Given the description of an element on the screen output the (x, y) to click on. 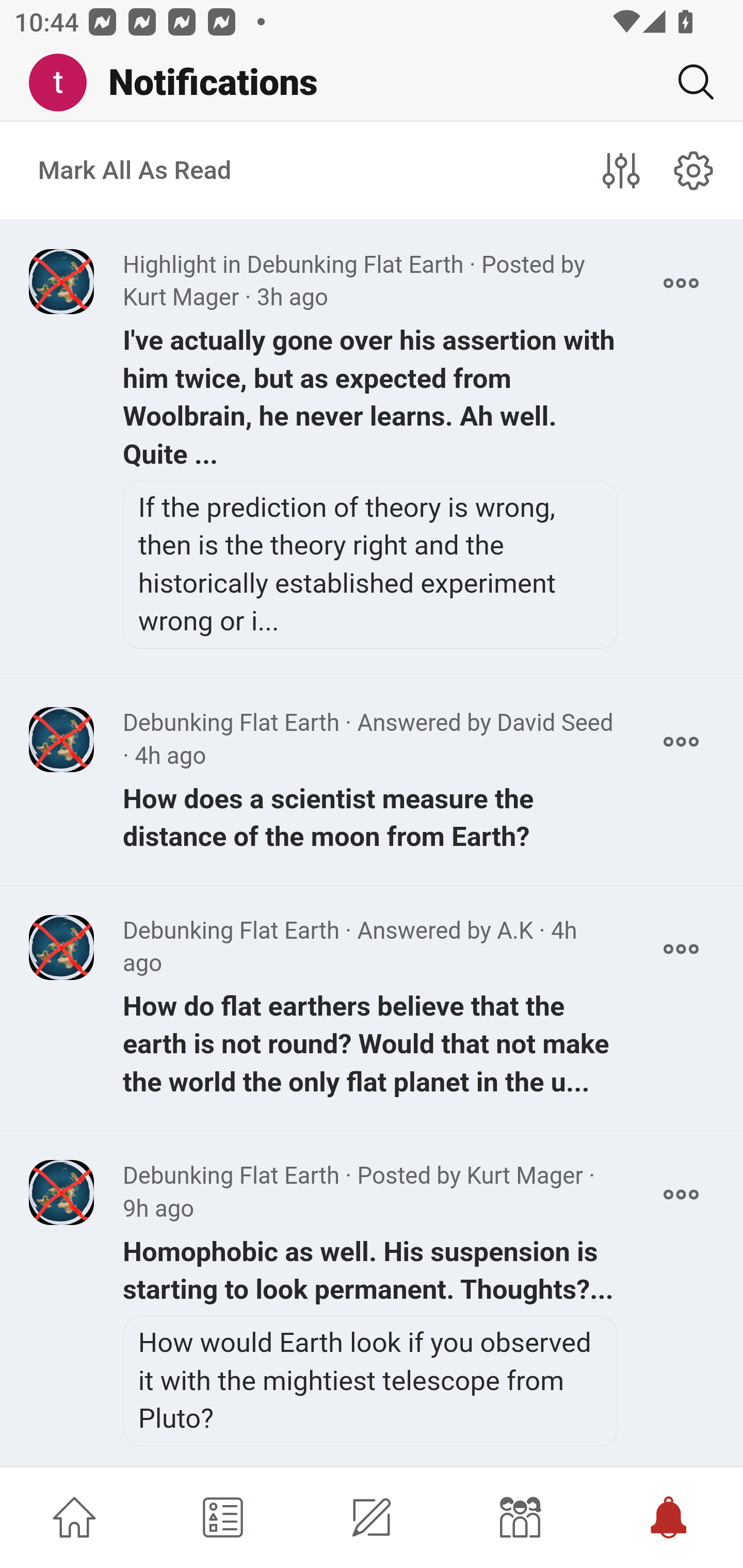
Me Notifications Search (371, 82)
Me (64, 83)
Search (688, 82)
Mark All As Read (135, 171)
notifications# (693, 170)
More (681, 282)
More (681, 741)
More (681, 949)
More (681, 1194)
